Given the description of an element on the screen output the (x, y) to click on. 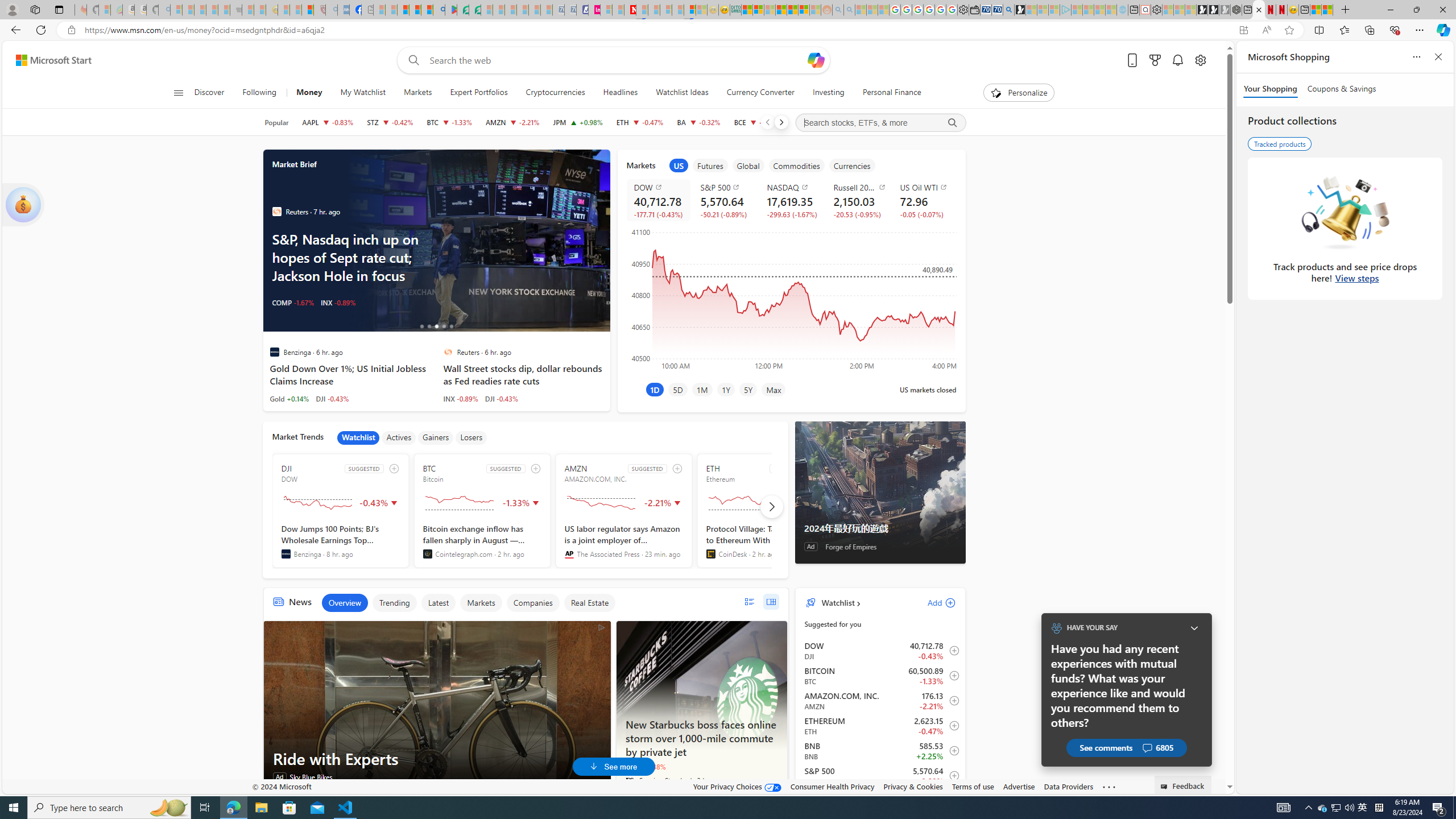
grid layout (770, 601)
Class: recharts-surface (791, 298)
Wildlife - MSN (1315, 9)
DOW DJI decrease 40,712.78 -177.71 -0.43% (658, 200)
Terms of use (973, 786)
Previous (767, 122)
Currency Converter (760, 92)
Kinda Frugal - MSN (792, 9)
NASDAQ (793, 187)
Search stocks, ETFs, & more (880, 122)
Money (308, 92)
JPM JPMORGAN CHASE & CO. increase 216.71 +2.11 +0.98% (578, 122)
